Given the description of an element on the screen output the (x, y) to click on. 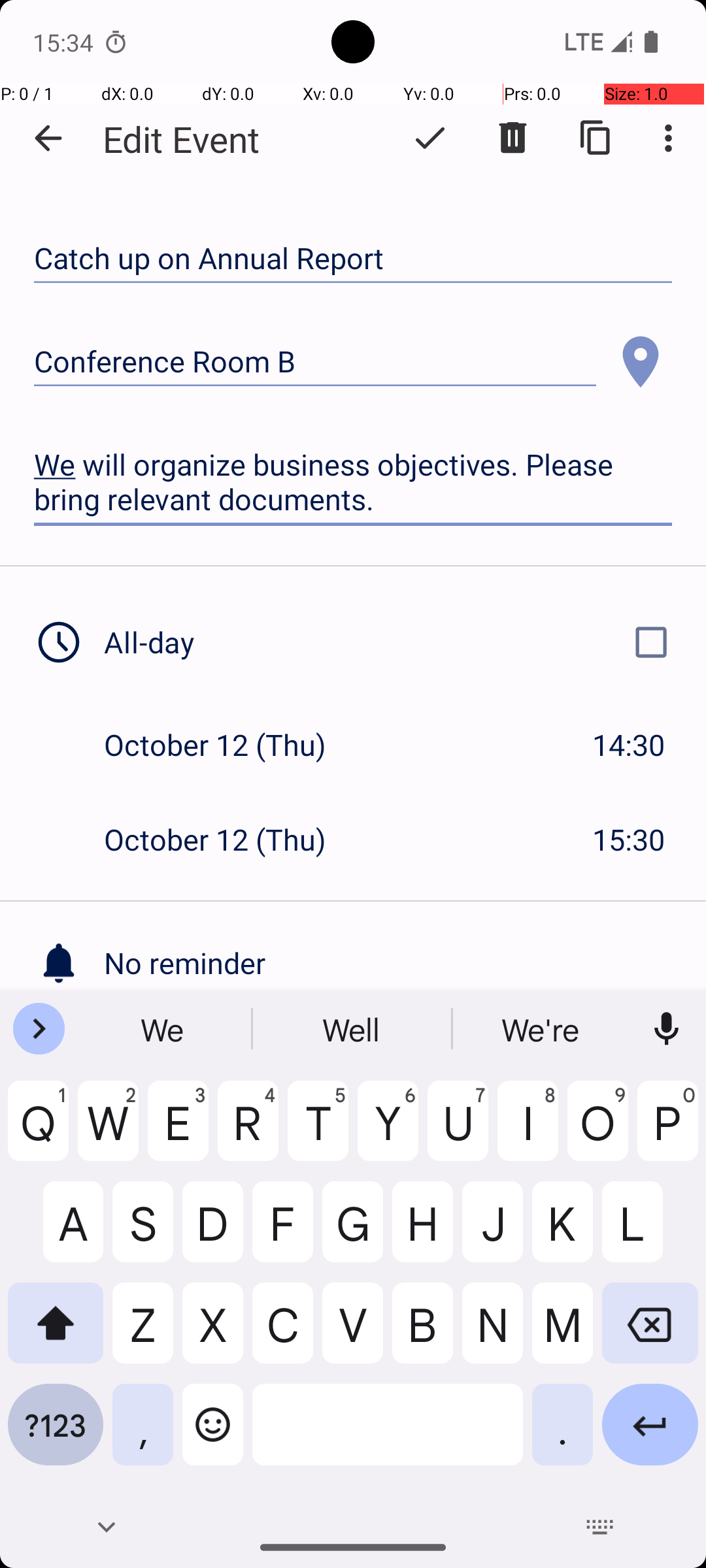
Conference Room B Element type: android.widget.EditText (314, 361)
We will organize business objectives. Please bring relevant documents. Element type: android.widget.EditText (352, 482)
October 12 (Thu) Element type: android.widget.TextView (228, 744)
14:30 Element type: android.widget.TextView (628, 744)
15:30 Element type: android.widget.TextView (628, 838)
We Element type: android.widget.FrameLayout (163, 1028)
Well Element type: android.widget.FrameLayout (352, 1028)
We're Element type: android.widget.FrameLayout (541, 1028)
